Given the description of an element on the screen output the (x, y) to click on. 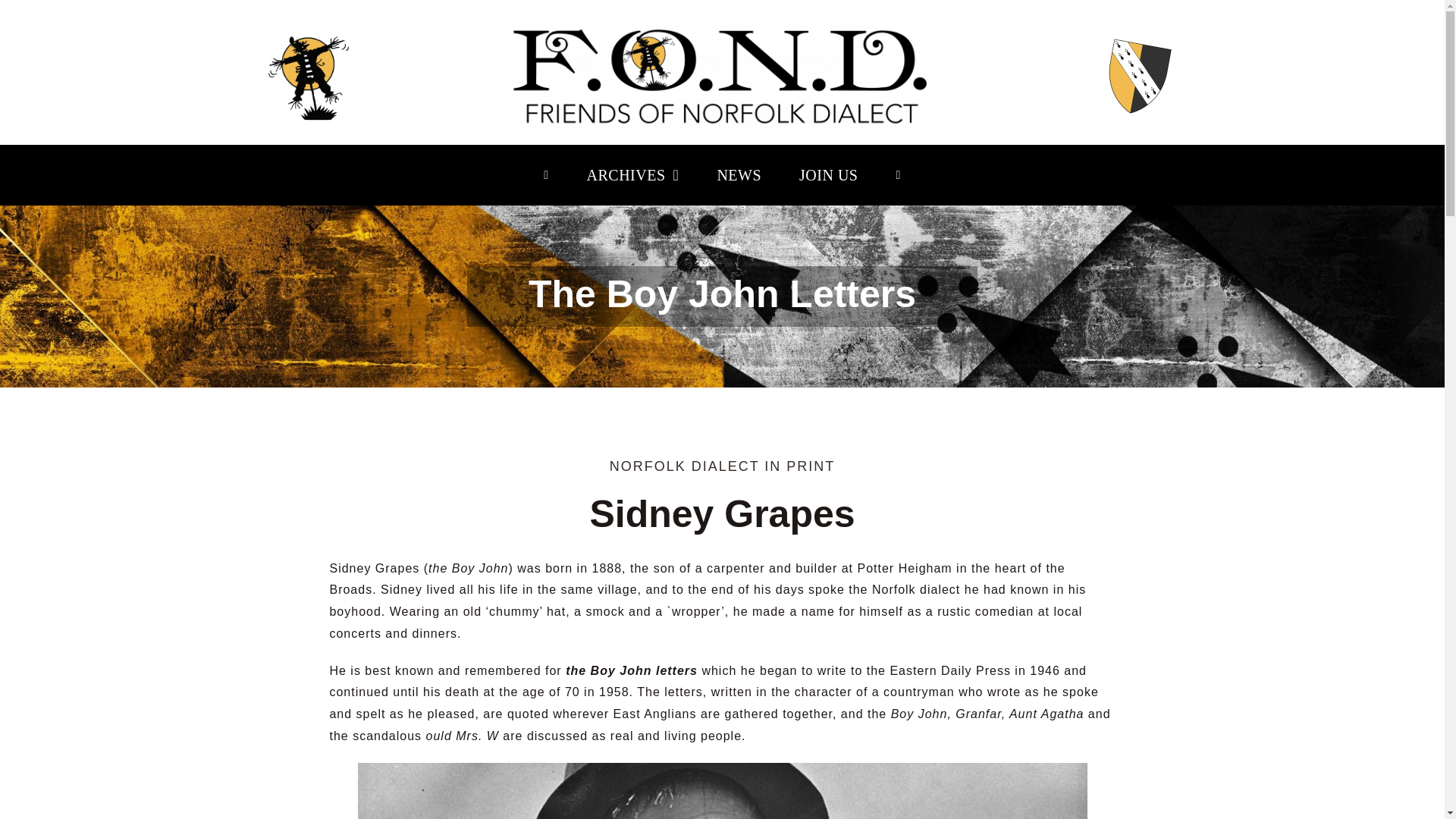
ARCHIVES (632, 174)
JOIN US (828, 174)
NorfolkFlag2 (1135, 78)
